Given the description of an element on the screen output the (x, y) to click on. 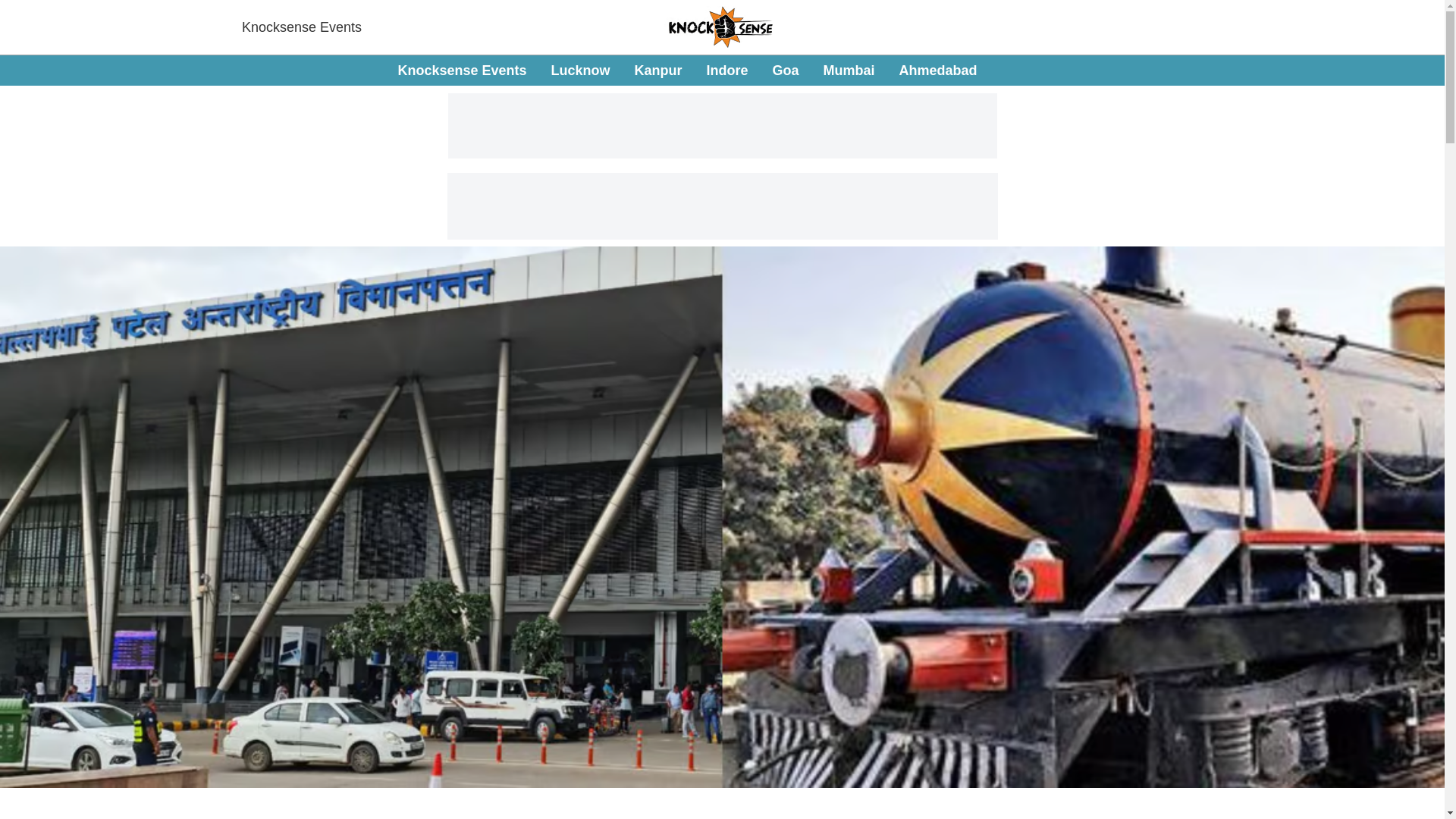
Kanpur (657, 70)
Knocksense Events (461, 70)
Ahmedabad (937, 70)
Dark Mode (1415, 70)
Indore (727, 70)
Knocksense Events (686, 70)
Lucknow (301, 27)
Goa (580, 70)
Mumbai (786, 70)
